Given the description of an element on the screen output the (x, y) to click on. 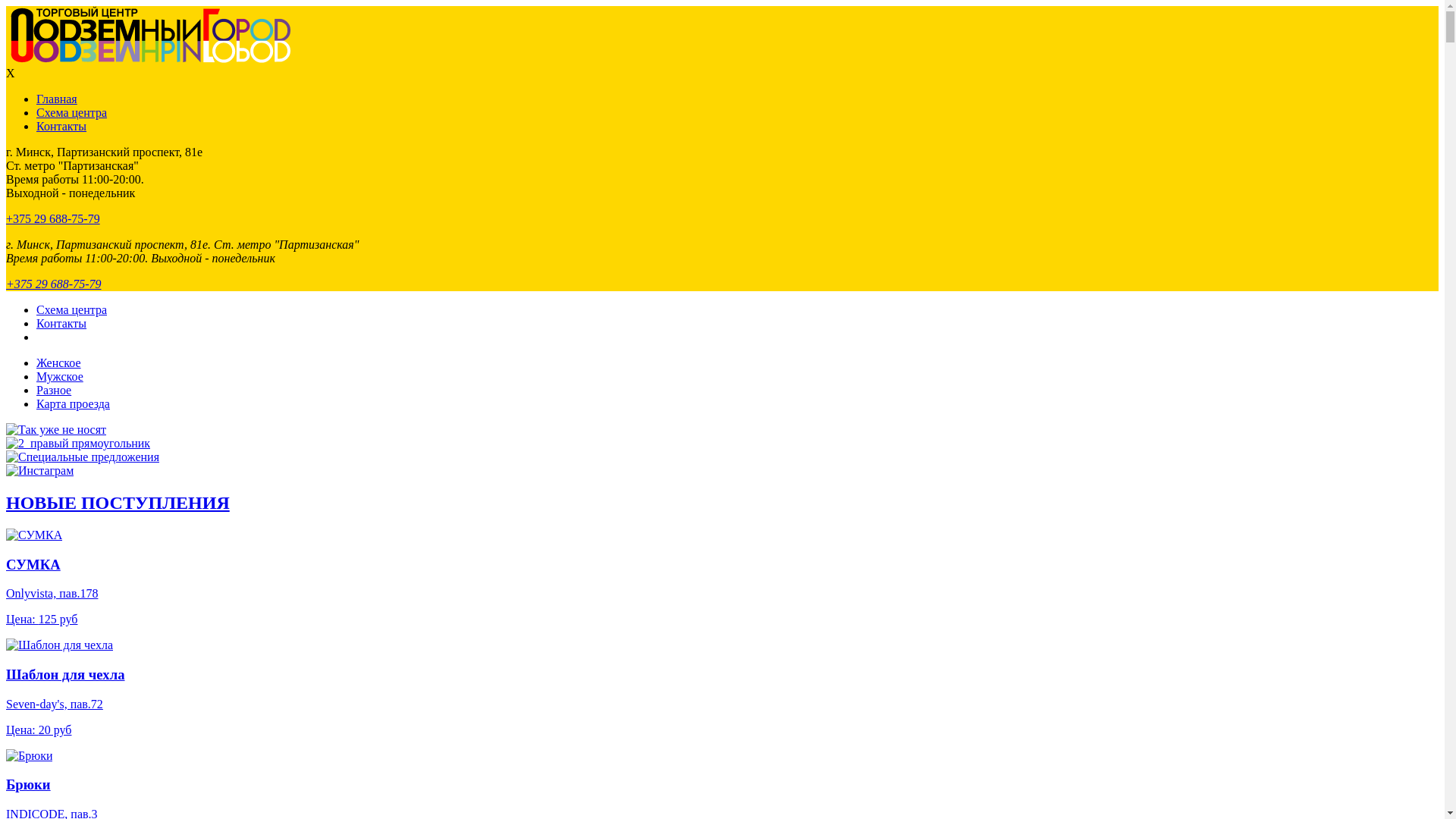
+375 29 688-75-79 Element type: text (53, 218)
+375 29 688-75-79 Element type: text (53, 283)
